Given the description of an element on the screen output the (x, y) to click on. 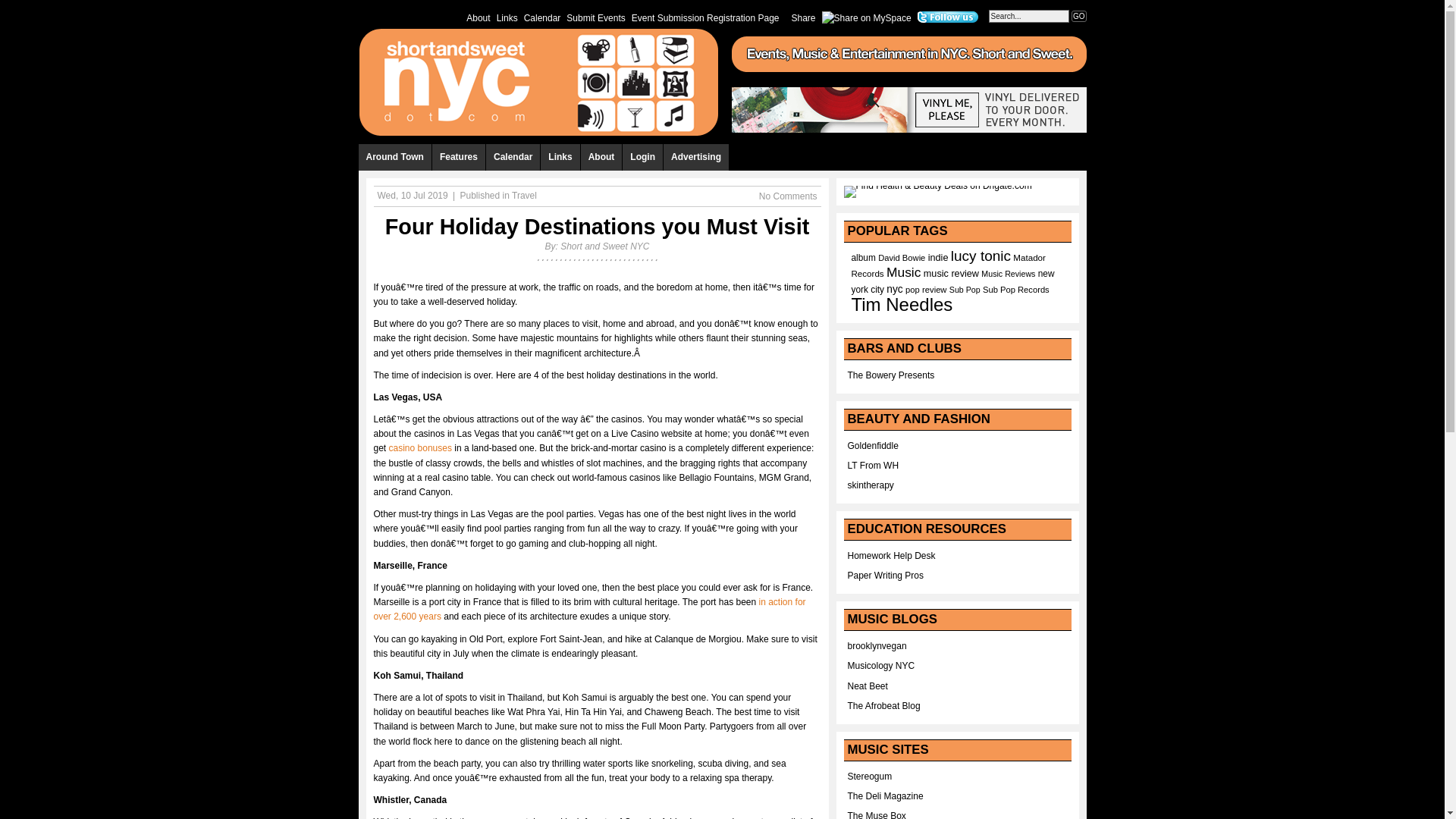
Links (507, 17)
twitter-icon.com (947, 17)
Event Submission Registration Page (705, 17)
Search... (1028, 15)
Calendar (542, 17)
GO (1078, 16)
Share (803, 17)
Links (559, 157)
Homework Help Desk (891, 555)
Around Town (394, 157)
